Given the description of an element on the screen output the (x, y) to click on. 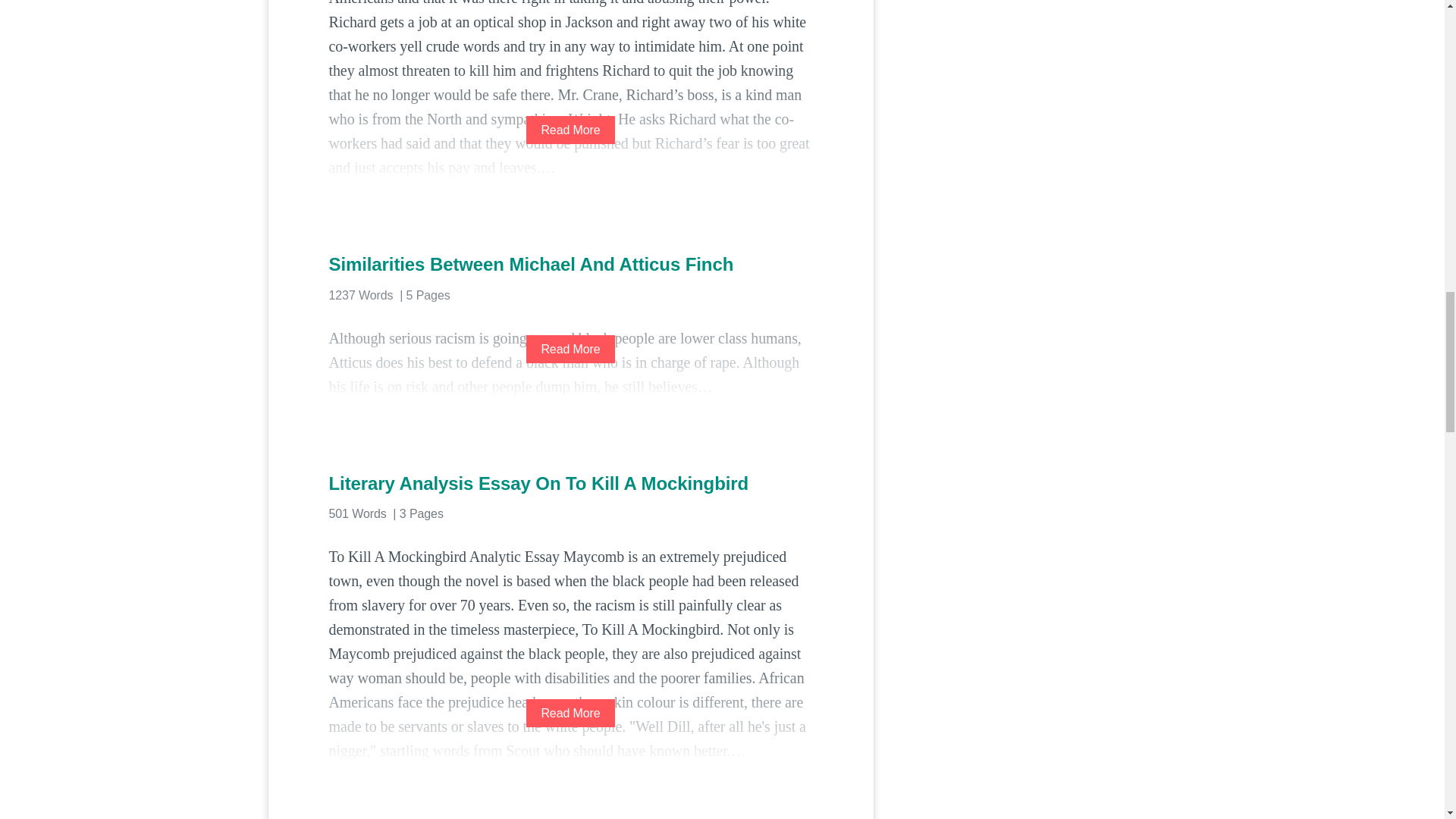
Literary Analysis Essay On To Kill A Mockingbird (570, 483)
Similarities Between Michael And Atticus Finch (570, 264)
Read More (569, 130)
Read More (569, 348)
Read More (569, 713)
